Given the description of an element on the screen output the (x, y) to click on. 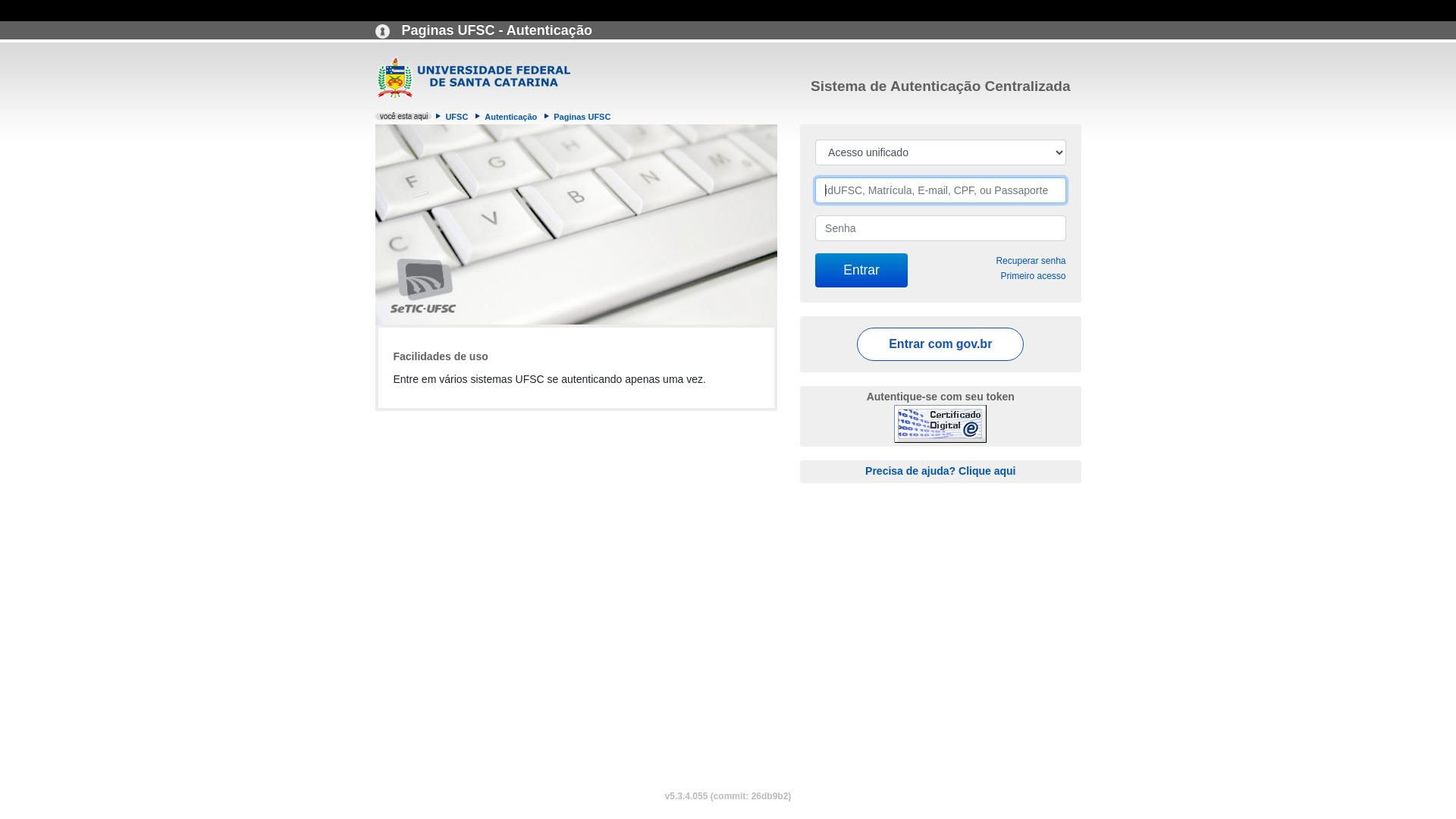
Recuperar senha Element type: text (1030, 260)
UFSC Element type: text (456, 116)
Entrar com
gov.br Element type: text (939, 343)
Paginas UFSC Element type: text (581, 116)
Precisa de ajuda? Clique aqui Element type: text (940, 470)
Entrar Element type: text (861, 270)
Primeiro acesso Element type: text (1032, 275)
